Given the description of an element on the screen output the (x, y) to click on. 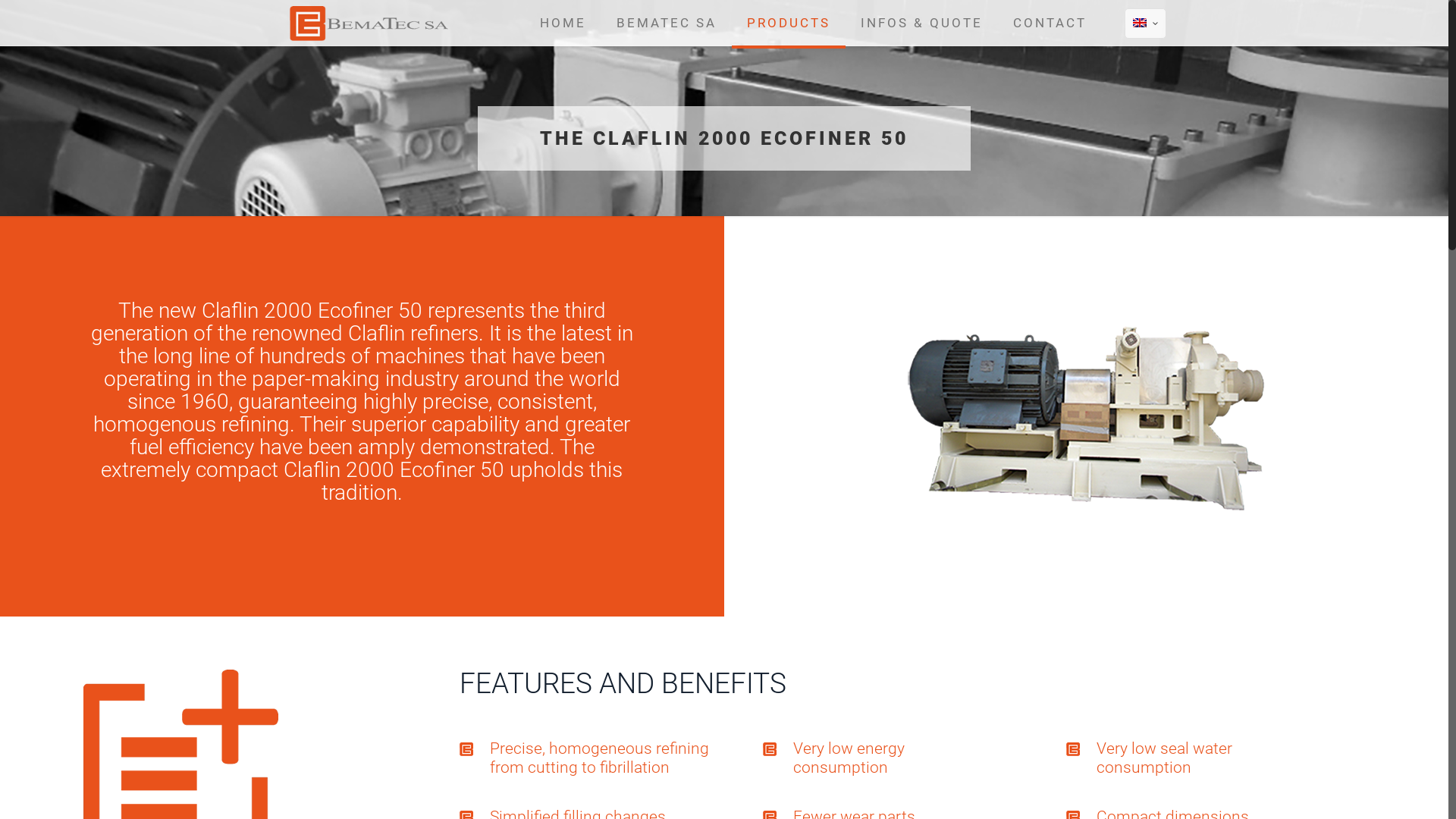
Bermatec Element type: hover (368, 22)
BEMATEC SA Element type: text (666, 22)
HOME Element type: text (562, 22)
PRODUCTS Element type: text (788, 22)
CONTACT Element type: text (1049, 22)
INFOS & QUOTE Element type: text (921, 22)
